Given the description of an element on the screen output the (x, y) to click on. 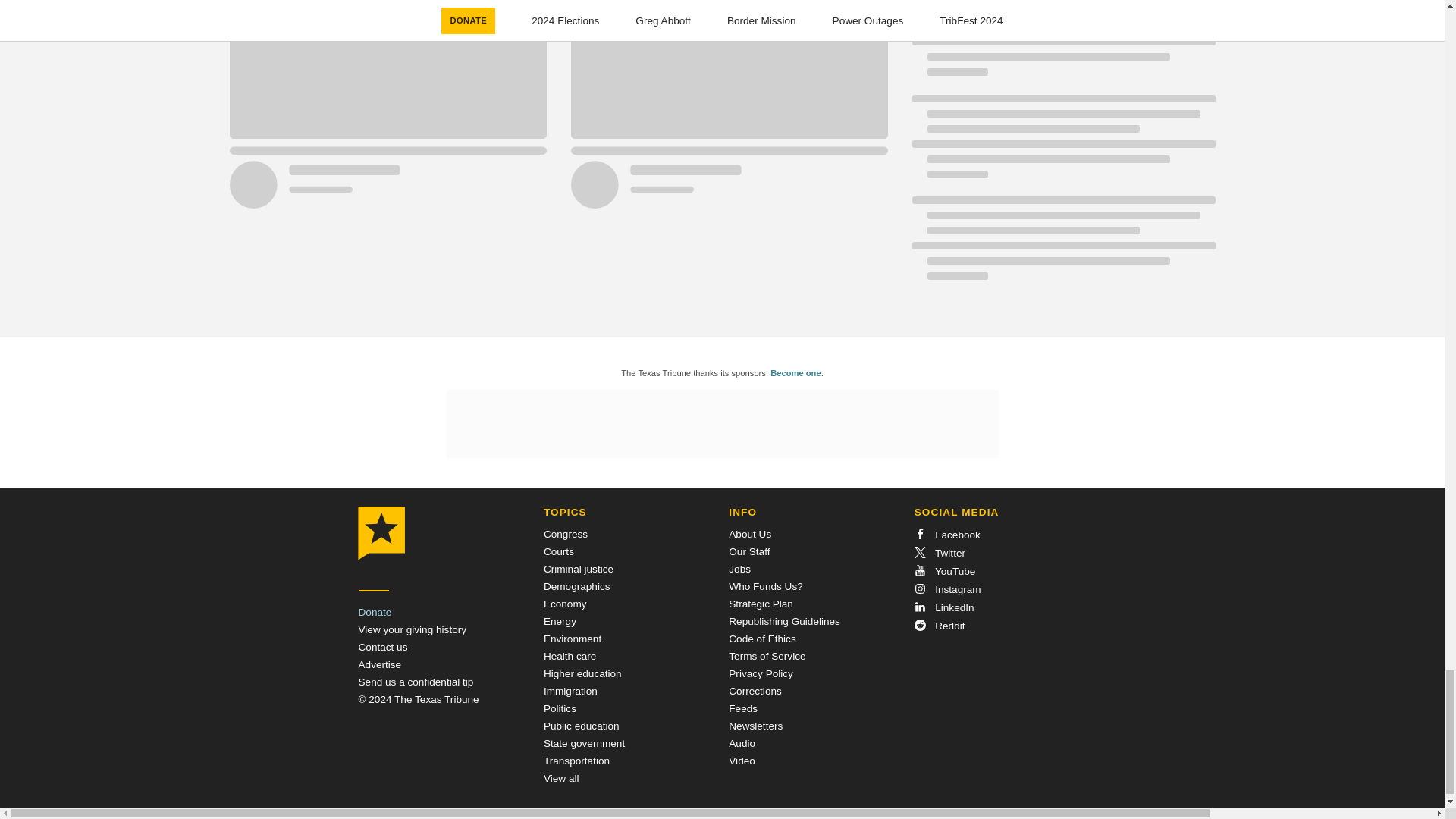
Who Funds Us? (765, 586)
Audio (742, 743)
Corrections (755, 690)
Privacy Policy (761, 673)
Strategic Plan (761, 603)
About Us (750, 533)
Terms of Service (767, 655)
Code of Ethics (761, 638)
Newsletters (756, 726)
Feeds (743, 708)
Advertise (379, 664)
Send a Tip (415, 681)
Republishing Guidelines (784, 621)
Donate (374, 612)
Contact us (382, 646)
